Given the description of an element on the screen output the (x, y) to click on. 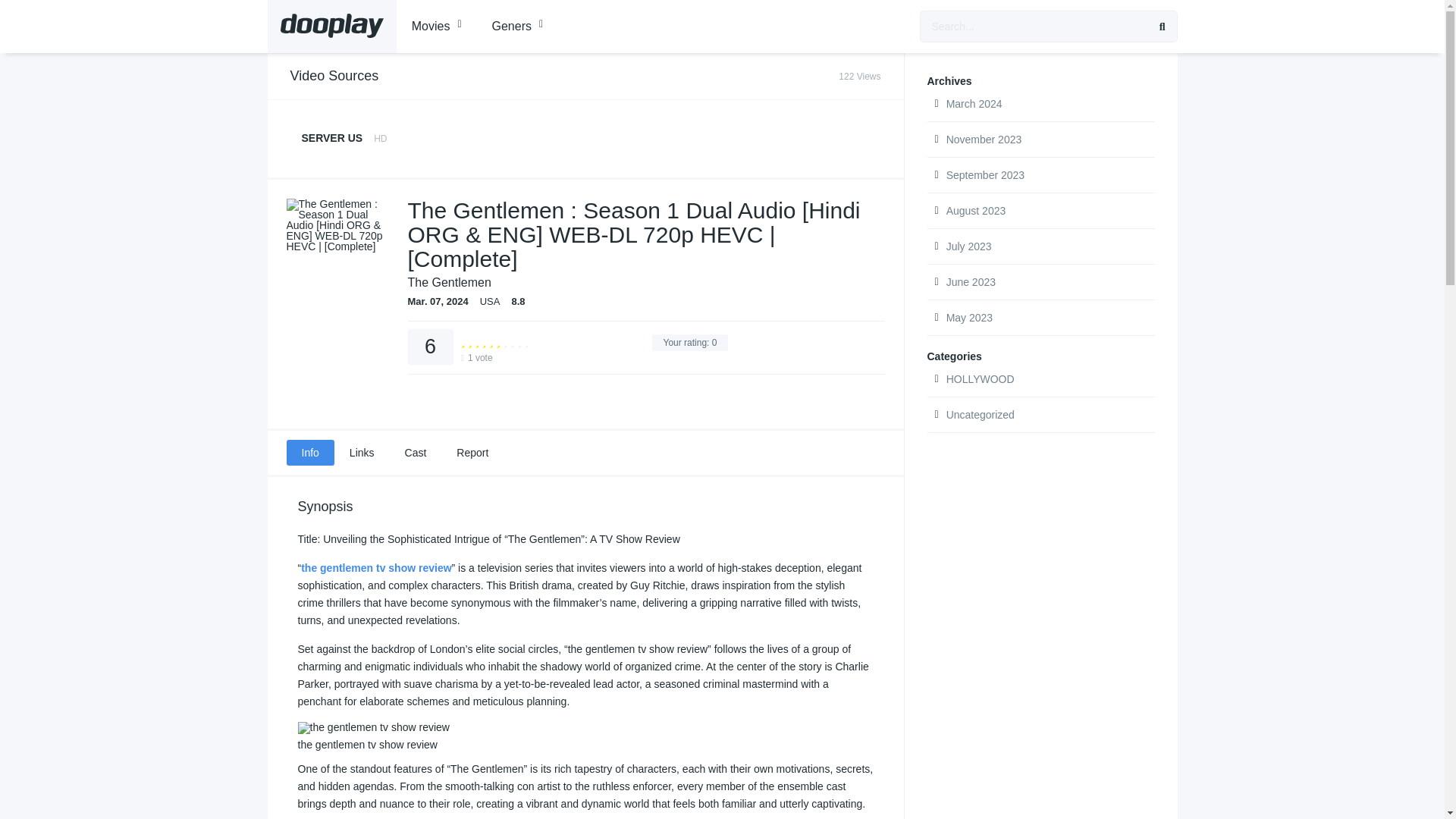
Movies (436, 26)
Geners (584, 138)
